Given the description of an element on the screen output the (x, y) to click on. 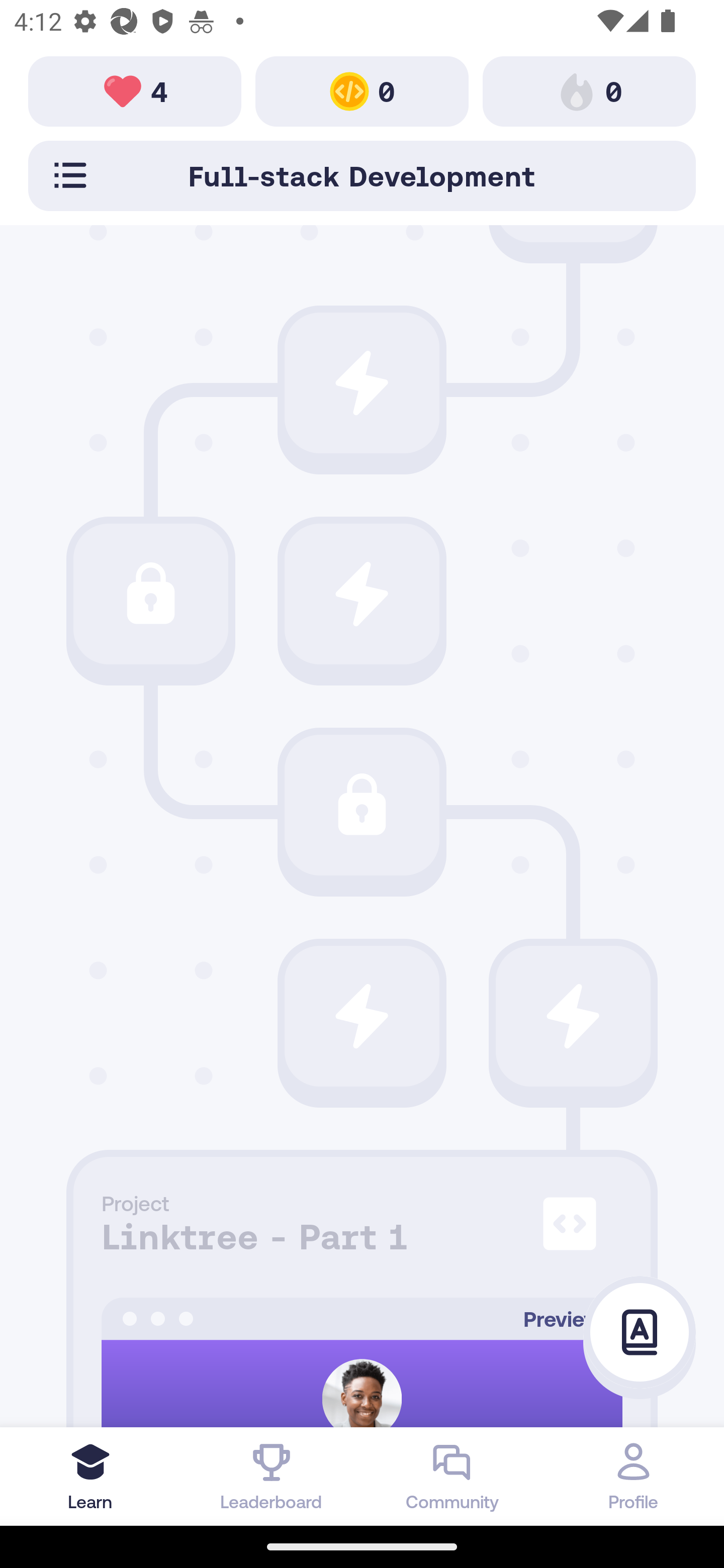
Path Toolbar Image 4 (134, 90)
Path Toolbar Image 0 (361, 90)
Path Toolbar Image 0 (588, 90)
Path Toolbar Selector Full-stack Development (361, 175)
Glossary Icon (639, 1332)
Leaderboard (271, 1475)
Community (452, 1475)
Profile (633, 1475)
